Given the description of an element on the screen output the (x, y) to click on. 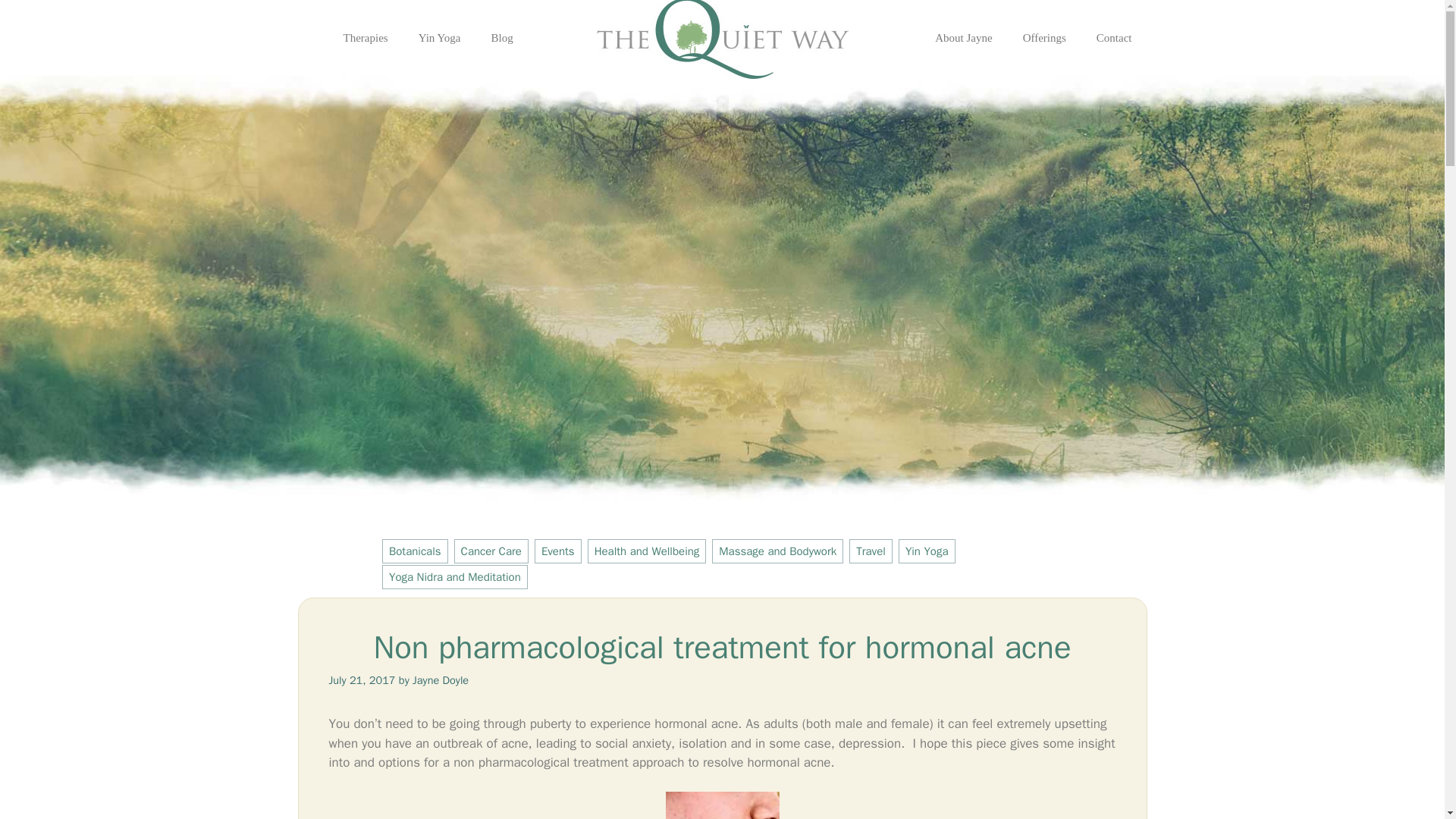
Yin Yoga (439, 37)
Blog (502, 37)
Cancer Care (491, 550)
About Jayne (963, 37)
Yin Yoga (926, 550)
Travel (870, 550)
Massage and Bodywork (777, 550)
View all posts by Jayne Doyle (440, 680)
Yoga Nidra and Meditation (454, 576)
Botanicals (414, 550)
Contact (1114, 37)
Jayne Doyle (440, 680)
Therapies (365, 37)
Health and Wellbeing (647, 550)
Events (557, 550)
